Given the description of an element on the screen output the (x, y) to click on. 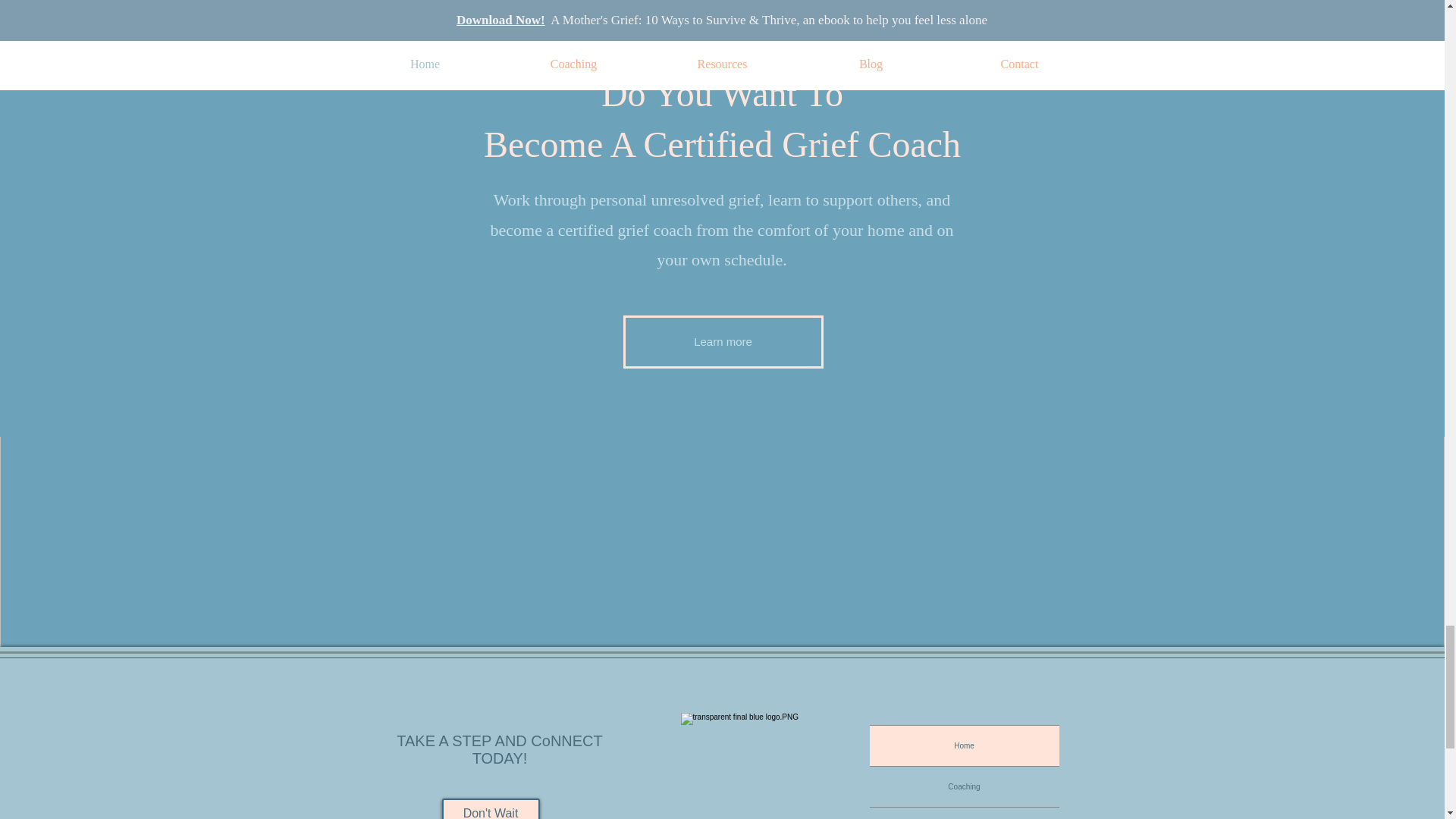
Don't Wait (489, 808)
Resources (963, 813)
Learn more (723, 341)
Home (963, 745)
Coaching (963, 786)
